Given the description of an element on the screen output the (x, y) to click on. 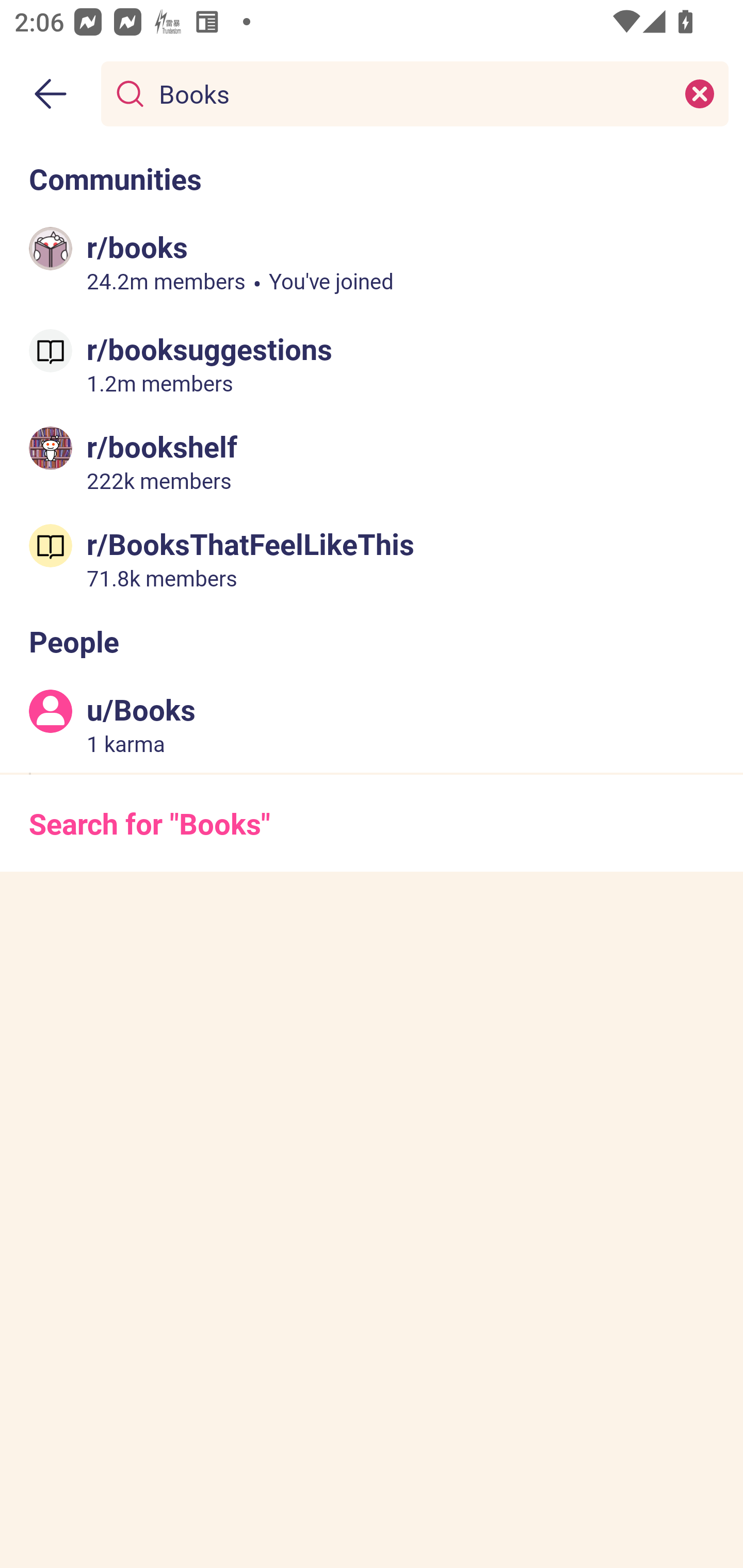
Back (50, 93)
Books (410, 93)
Clear search (699, 93)
r/booksuggestions 1.2m members 1.2 million members (371, 363)
r/bookshelf 222k members 222 thousand members (371, 460)
u/Books 1 karma 1 karma (371, 724)
Search for "Books" (371, 822)
